Given the description of an element on the screen output the (x, y) to click on. 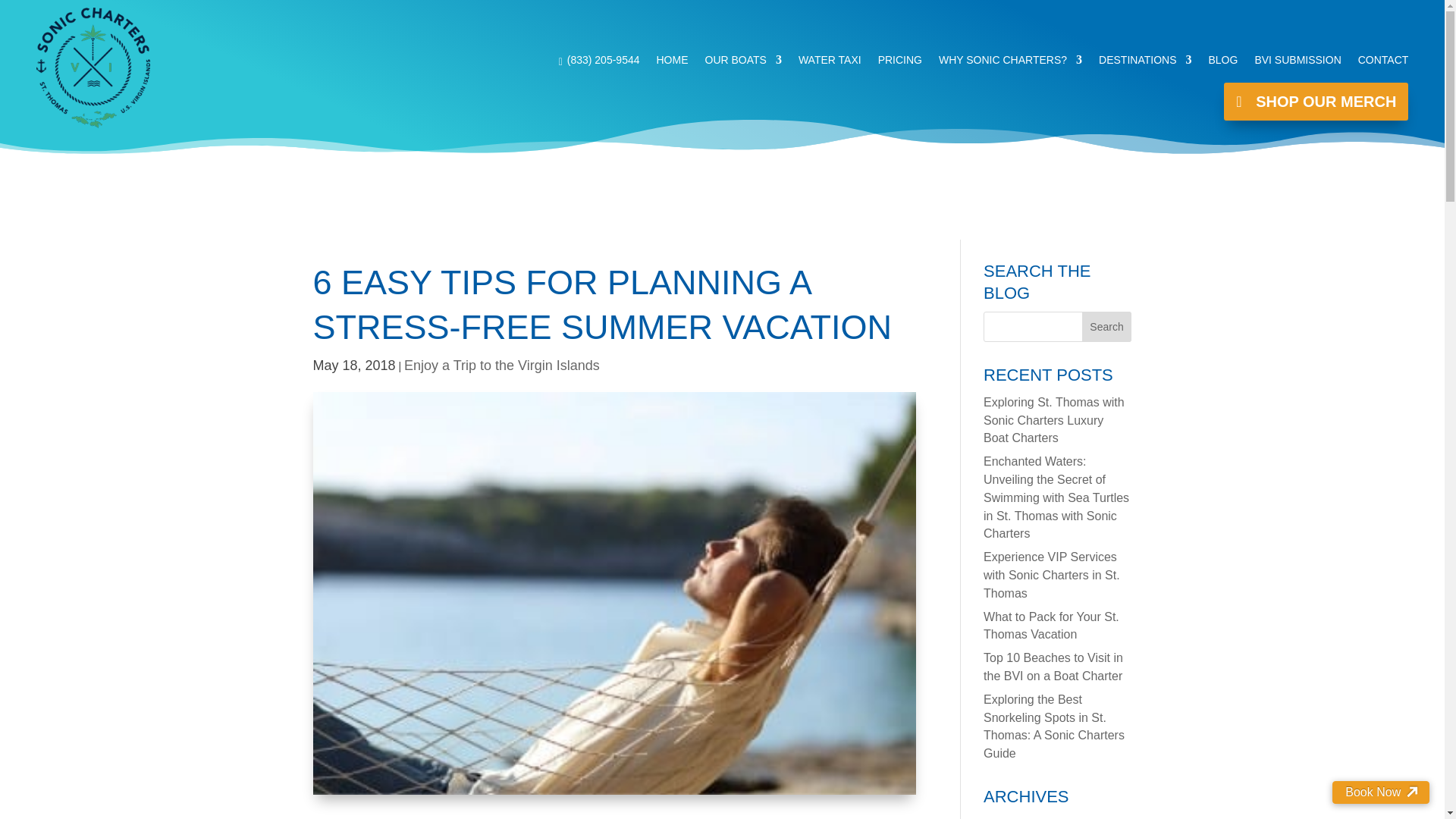
CONTACT (1383, 63)
OUR BOATS (742, 63)
WATER TAXI (829, 63)
HOME (672, 63)
BLOG (1222, 63)
WHY SONIC CHARTERS? (1010, 63)
DESTINATIONS (1145, 63)
PRICING (899, 63)
Search (1106, 327)
BVI SUBMISSION (1296, 63)
